Given the description of an element on the screen output the (x, y) to click on. 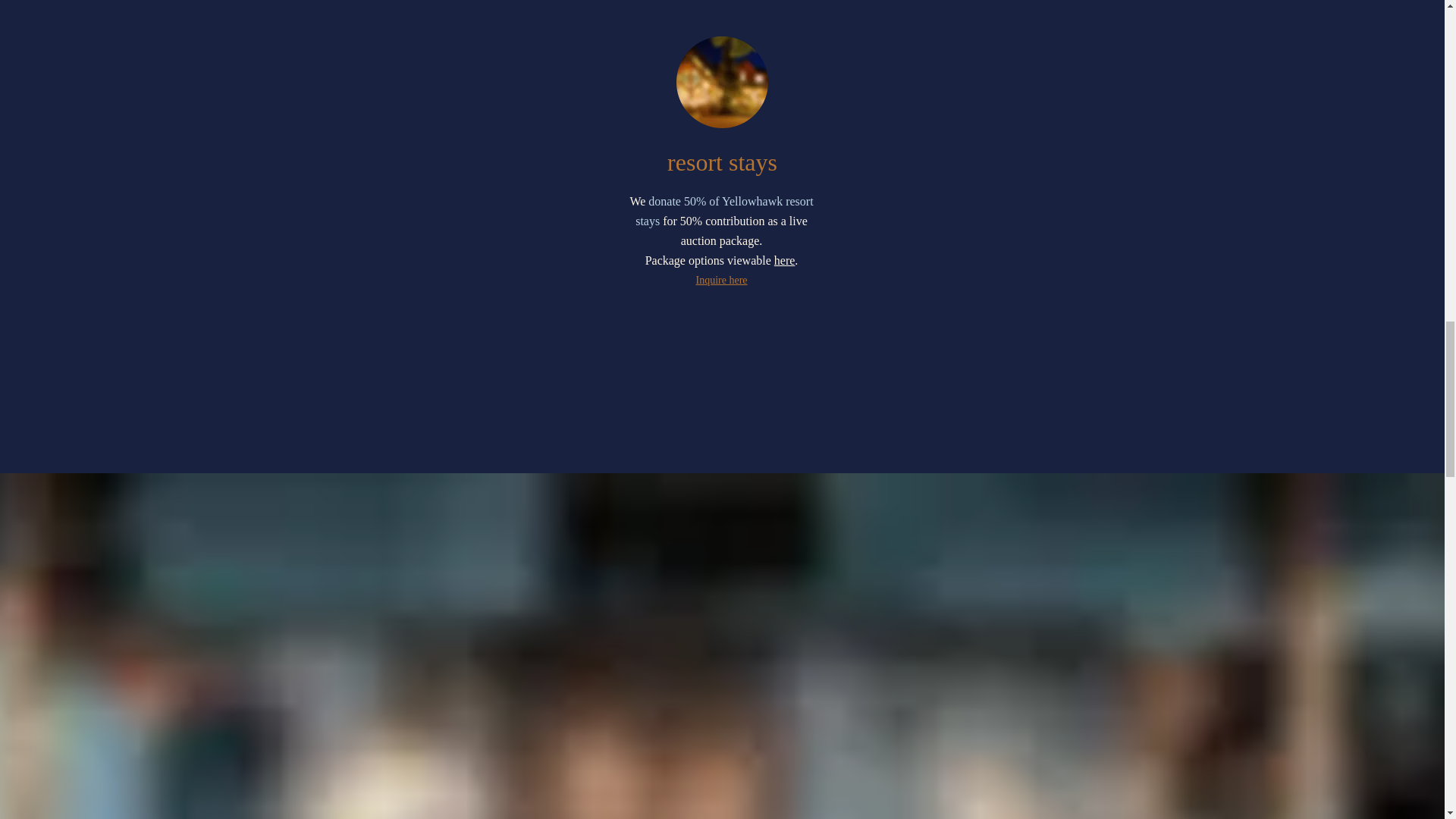
Inquire here (720, 279)
here (784, 259)
